Given the description of an element on the screen output the (x, y) to click on. 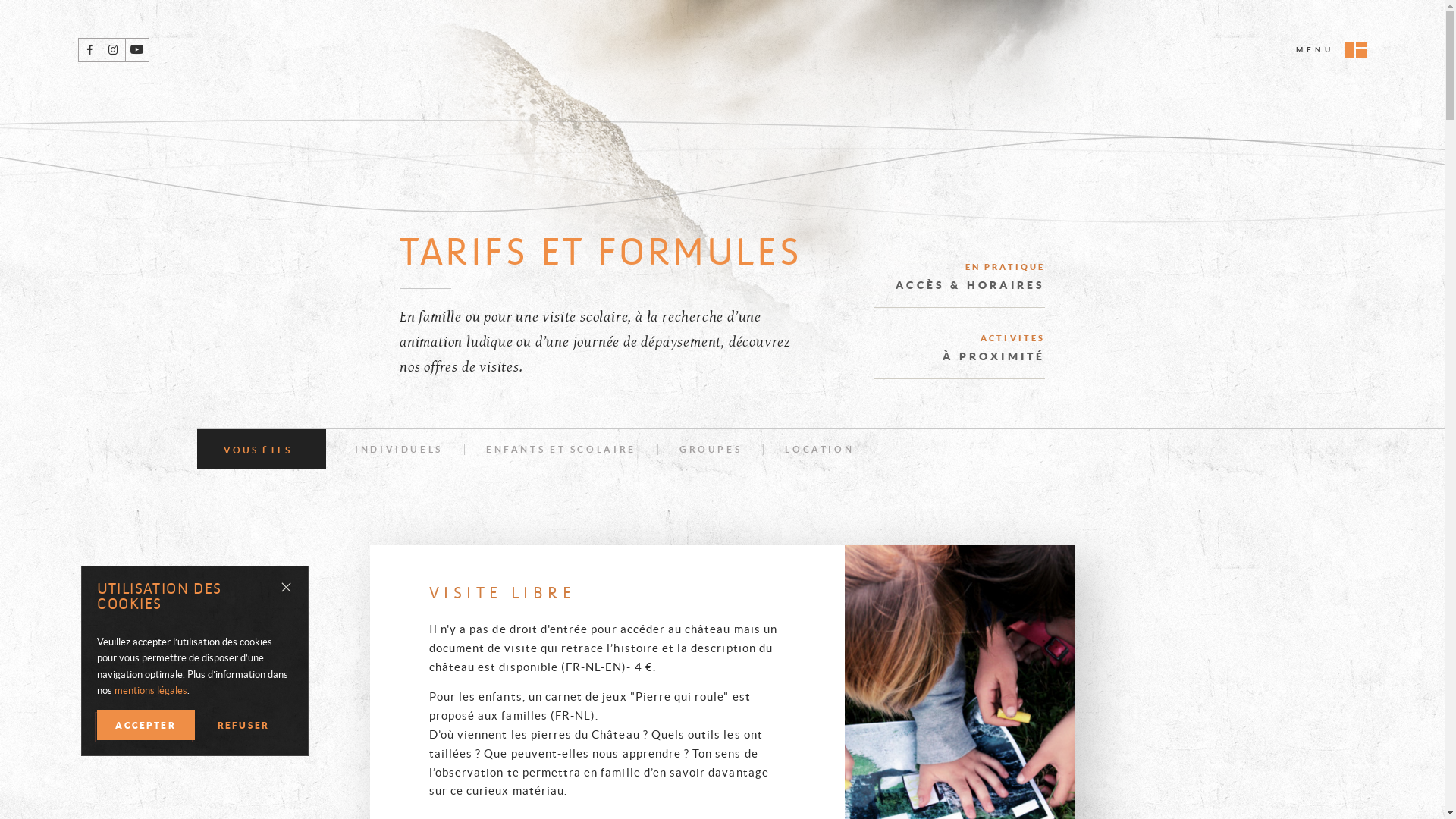
ACCEPTER Element type: text (145, 724)
ENFANTS ET SCOLAIRE Element type: text (561, 449)
REFUSER Element type: text (243, 724)
INDIVIDUELS Element type: text (398, 449)
GROUPES Element type: text (710, 449)
LOCATION Element type: text (819, 449)
